Given the description of an element on the screen output the (x, y) to click on. 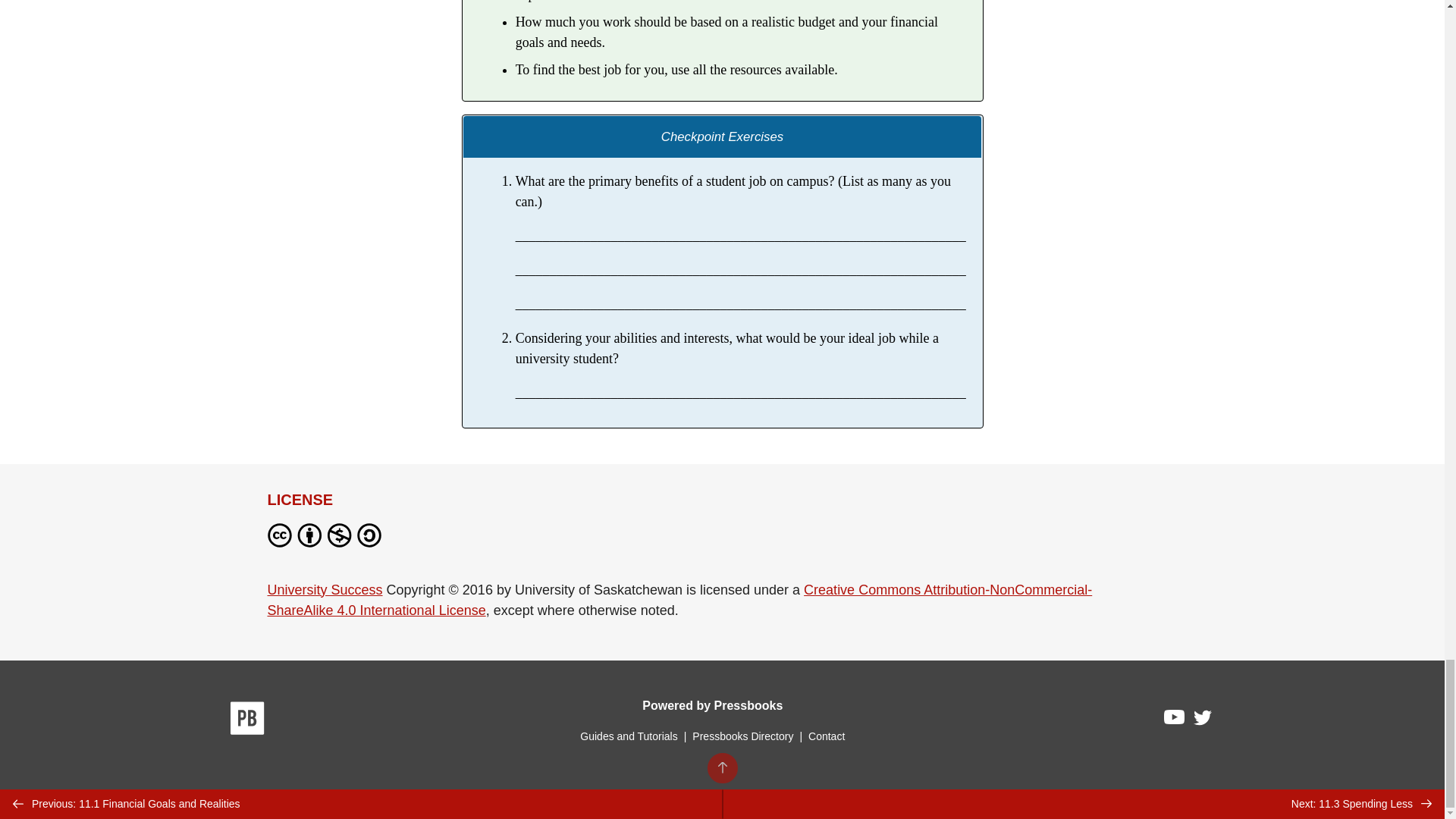
Powered by Pressbooks (712, 704)
University Success (323, 589)
Contact (826, 736)
Pressbooks Directory (742, 736)
Guides and Tutorials (627, 736)
